Given the description of an element on the screen output the (x, y) to click on. 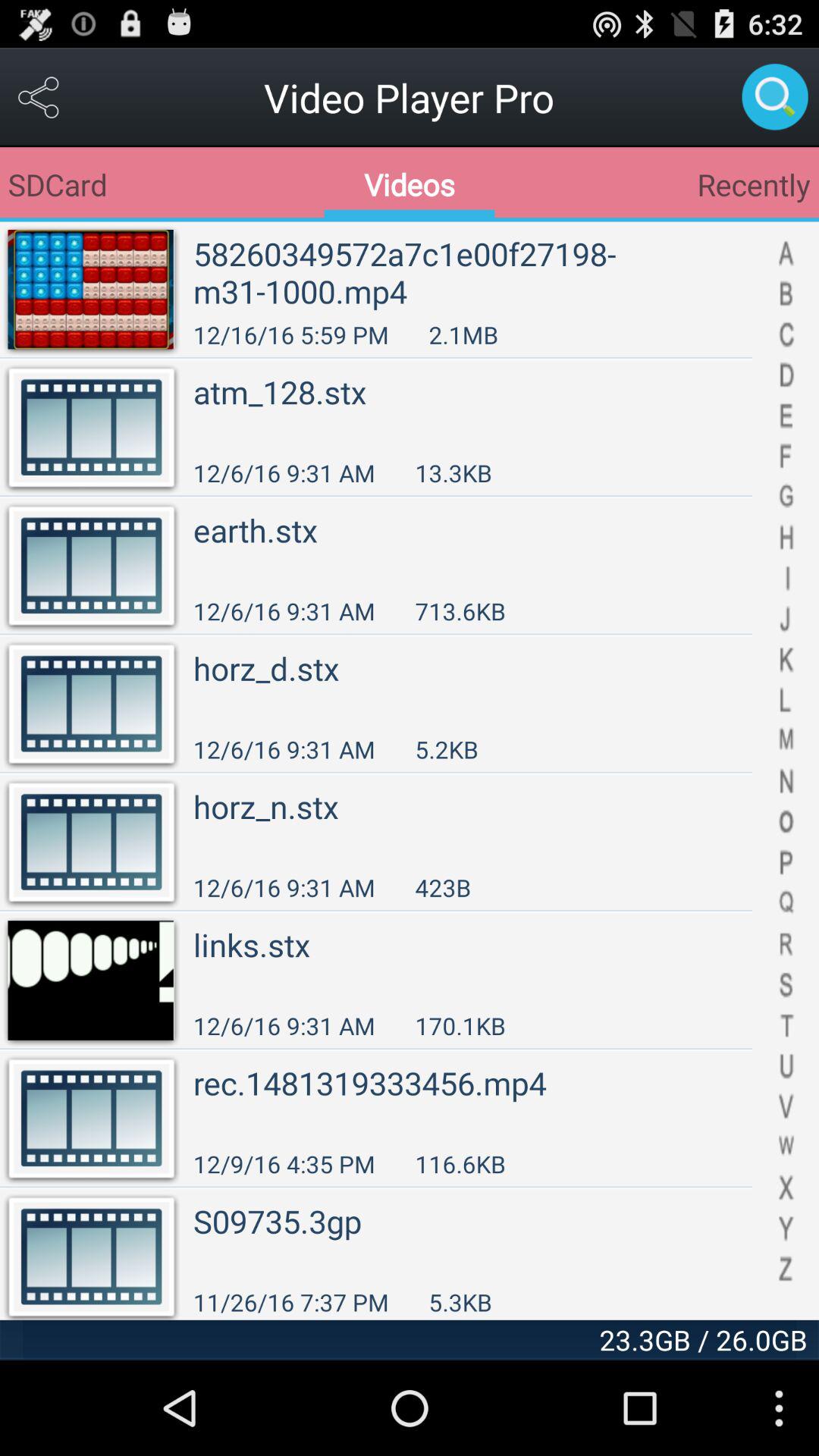
search the video (774, 97)
